Given the description of an element on the screen output the (x, y) to click on. 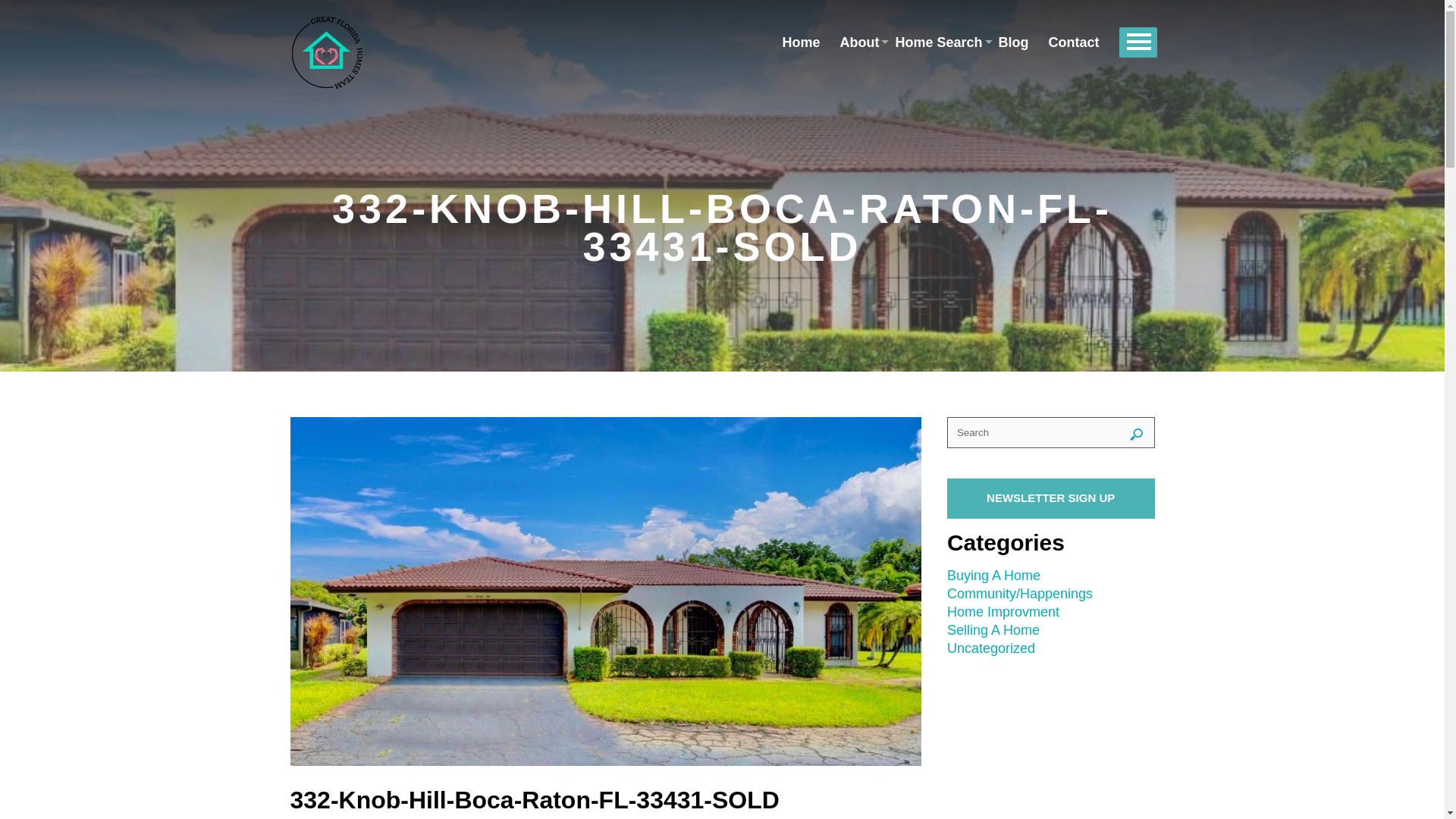
Home (800, 42)
Home Search (936, 42)
About (857, 42)
Blog (1013, 42)
Contact (1074, 42)
